Given the description of an element on the screen output the (x, y) to click on. 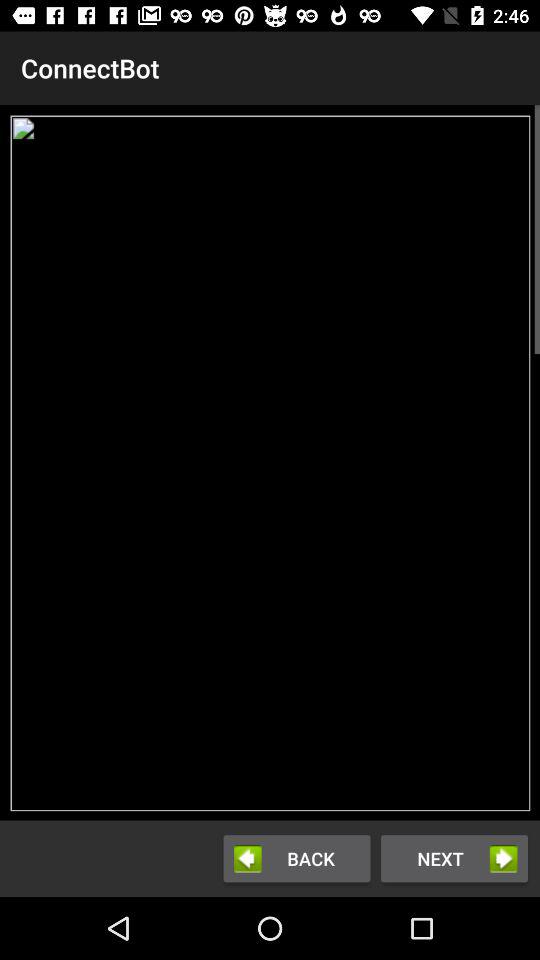
turn off the icon next to the back item (454, 858)
